Given the description of an element on the screen output the (x, y) to click on. 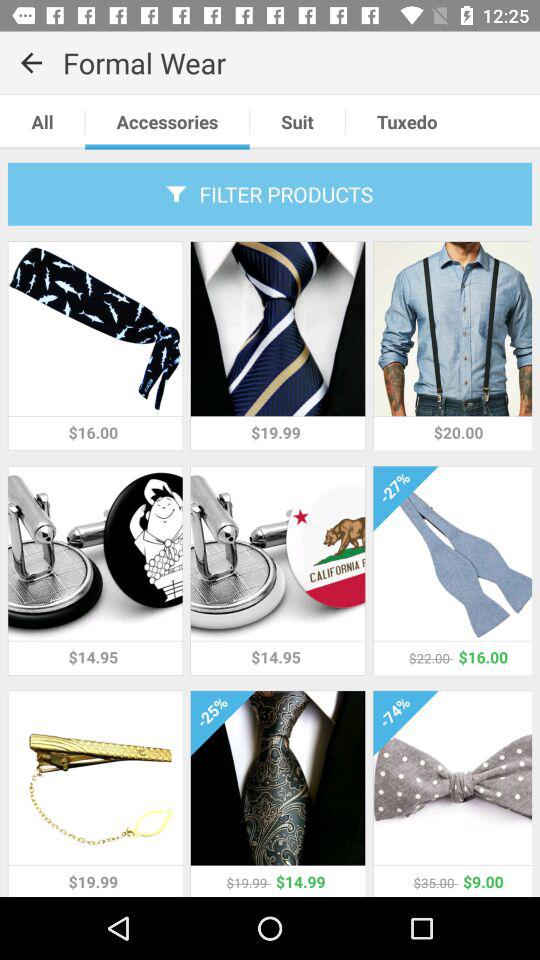
select tuxedo (407, 122)
select the text suit (297, 122)
select the second picture (278, 328)
select the text next to all (167, 122)
